Given the description of an element on the screen output the (x, y) to click on. 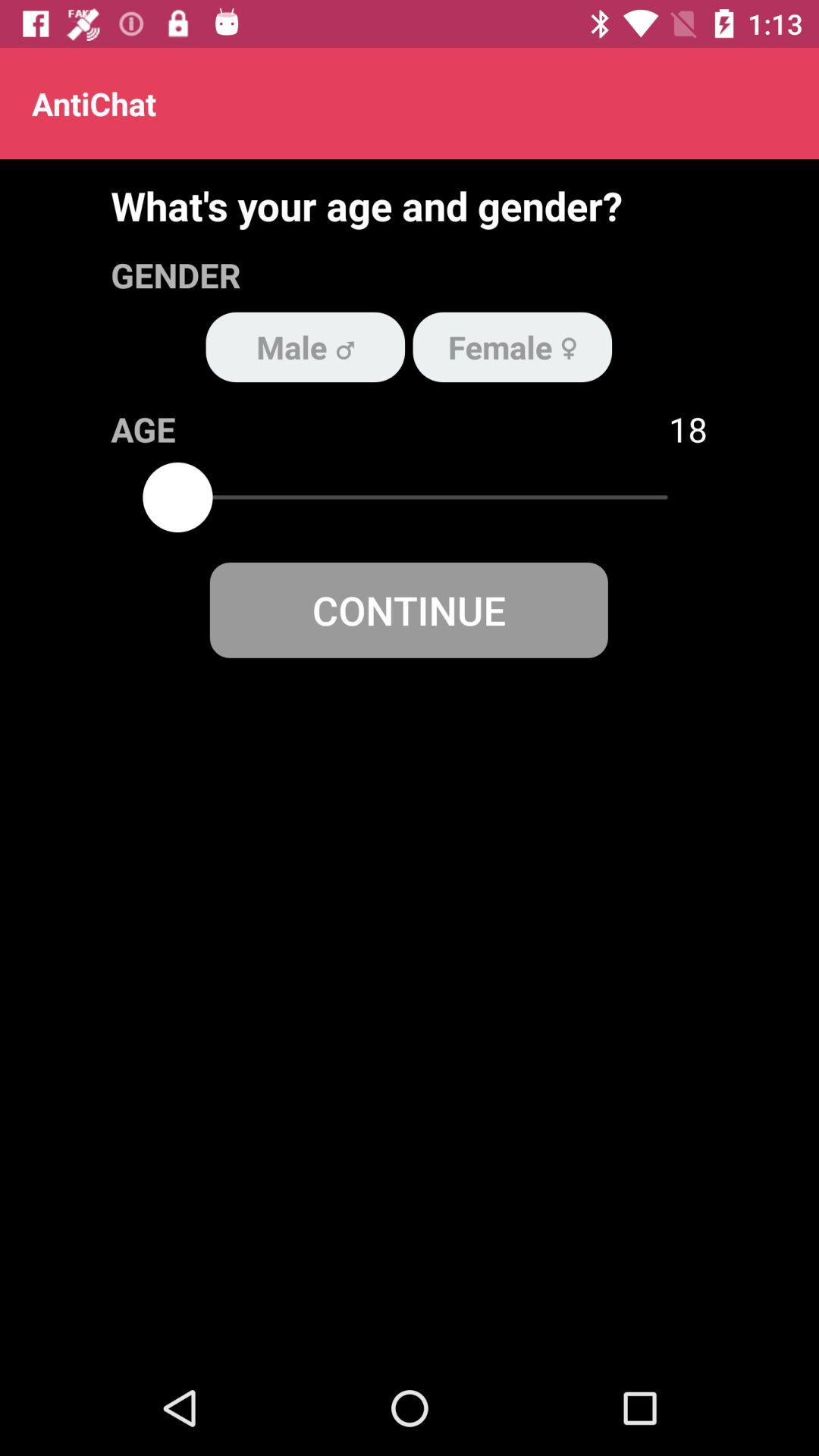
turn on item below what s your item (511, 347)
